Given the description of an element on the screen output the (x, y) to click on. 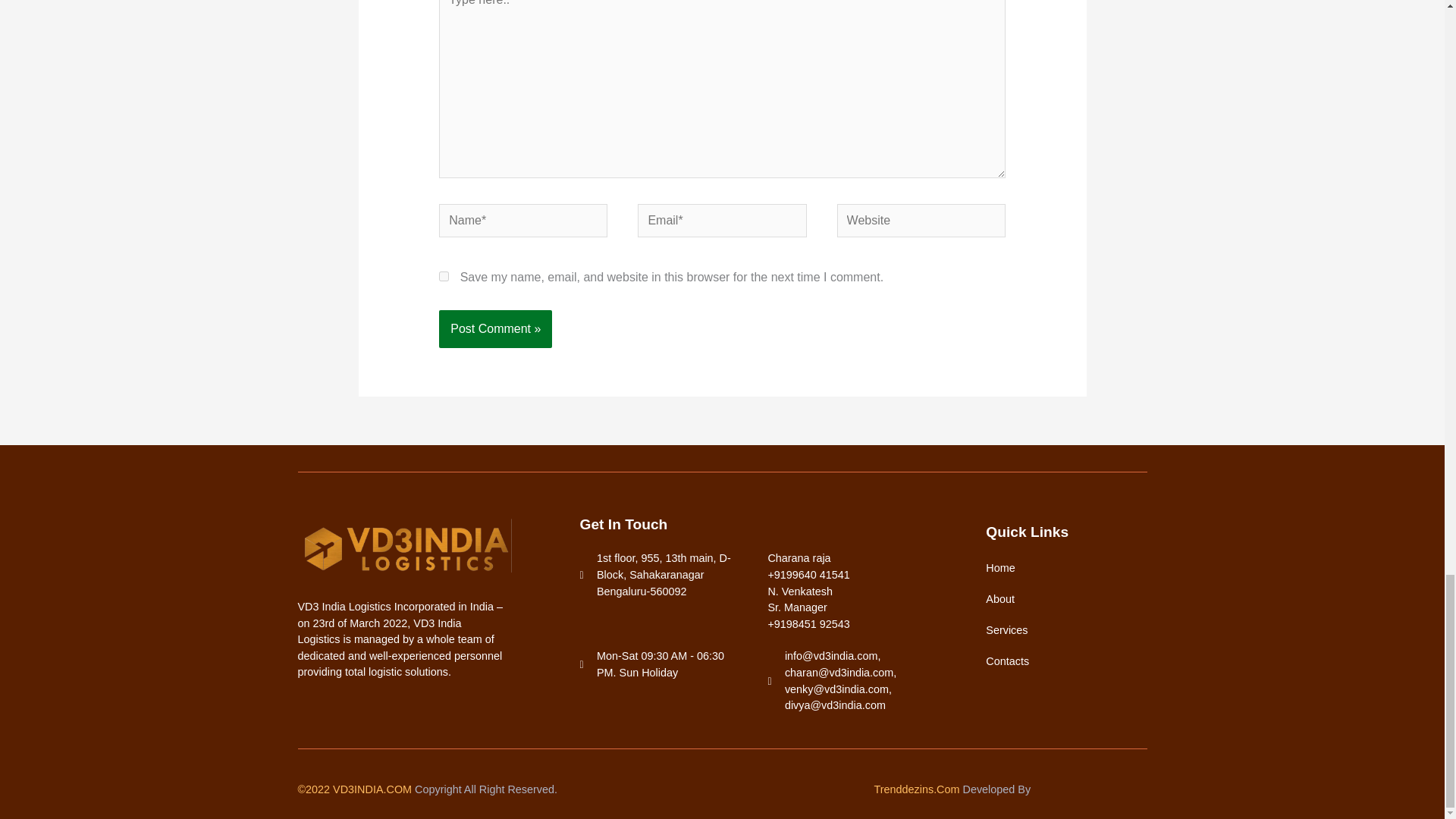
Contacts (1063, 661)
About (1063, 598)
Services (1063, 629)
Home (1063, 567)
yes (443, 276)
